Given the description of an element on the screen output the (x, y) to click on. 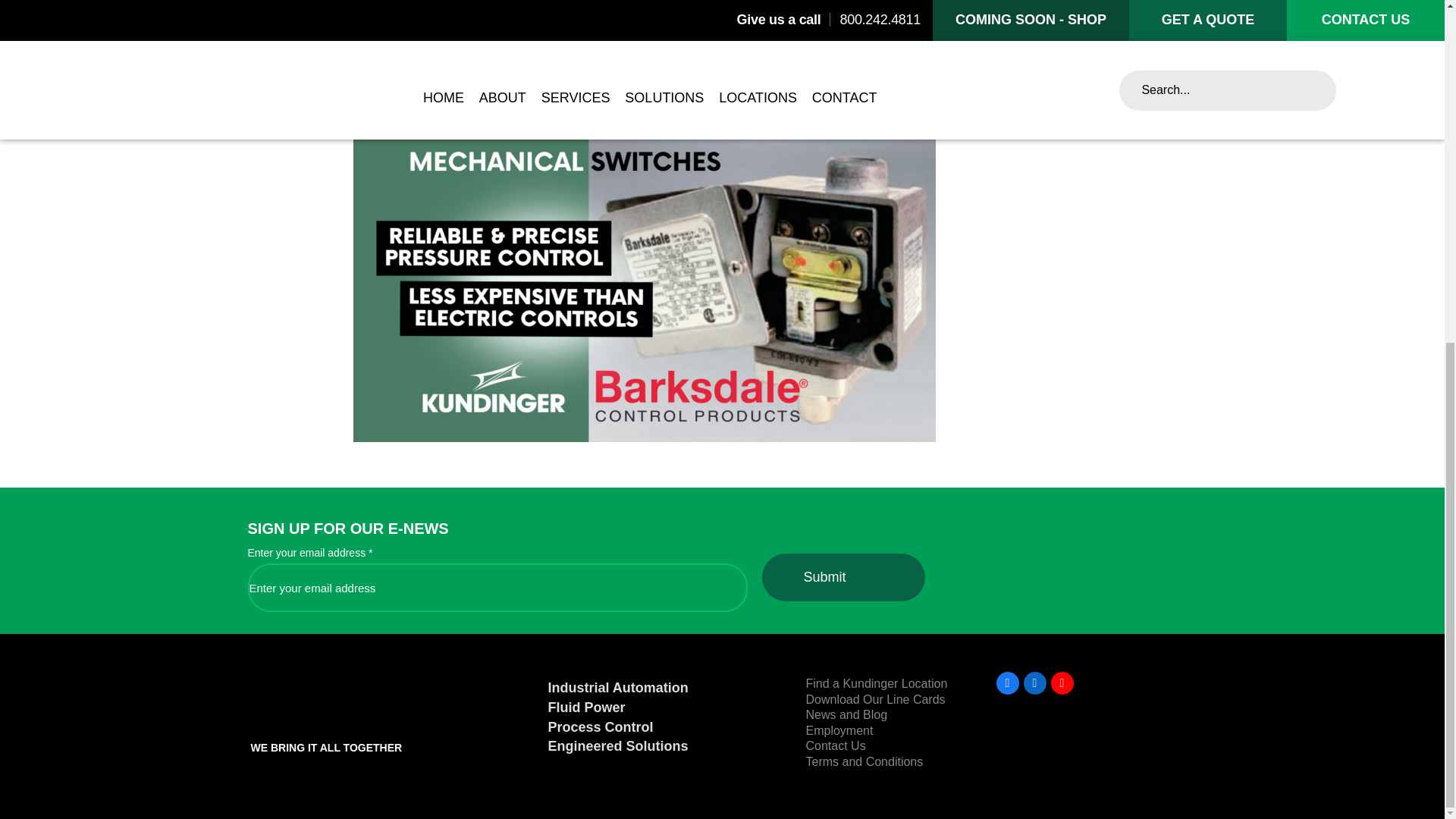
Barksdale (508, 91)
Kundinger (330, 706)
contact us (583, 103)
Submit (842, 577)
